Given the description of an element on the screen output the (x, y) to click on. 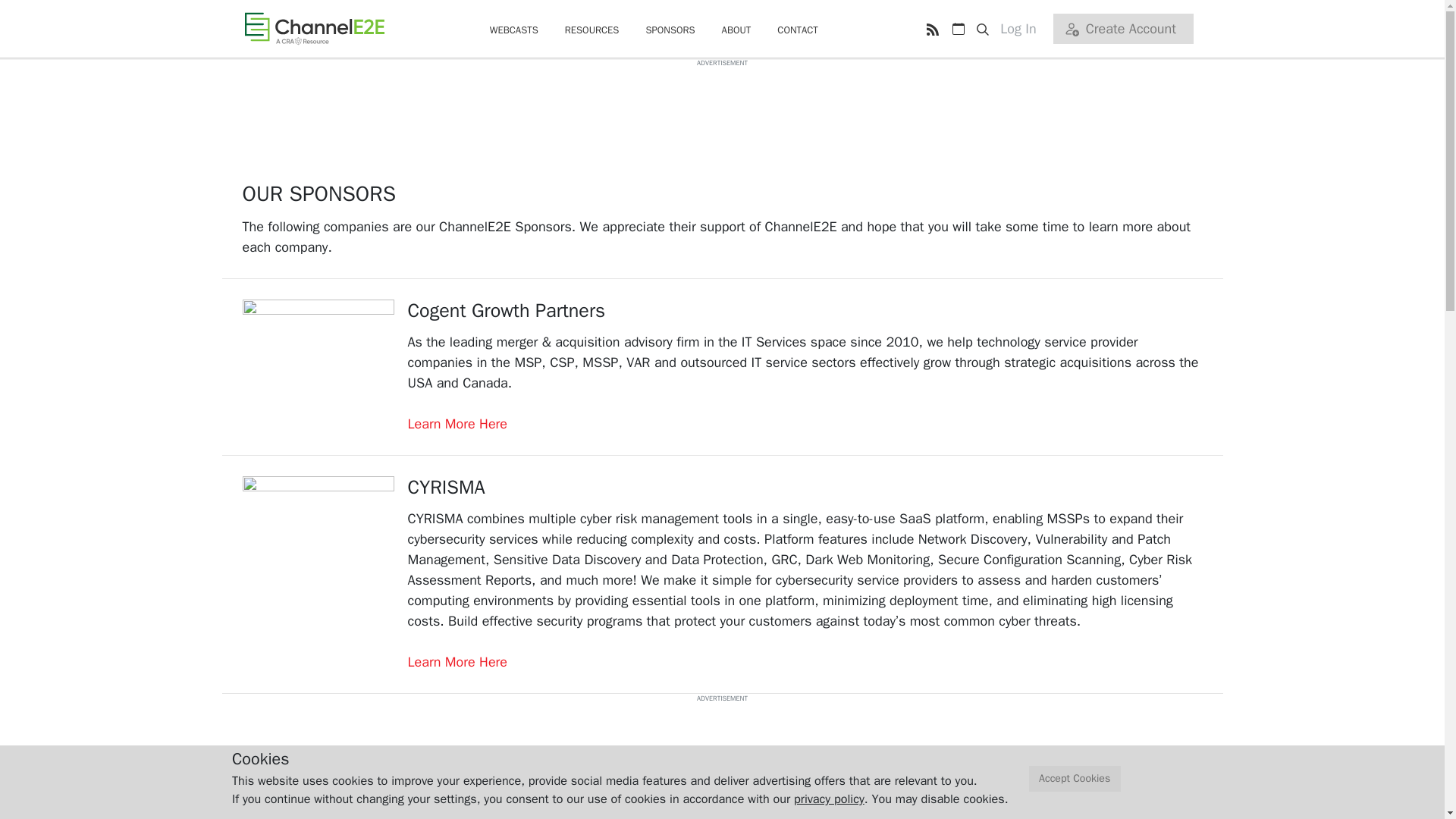
WEBCASTS (513, 30)
Log In (1023, 29)
RESOURCES (592, 30)
Create Account (1122, 29)
3rd party ad content (721, 101)
CONTACT (797, 30)
3rd party ad content (721, 737)
Learn More Here (457, 423)
SPONSORS (669, 30)
privacy policy (828, 798)
Learn More Here (457, 661)
ABOUT (736, 30)
View Cybersecurity Conference Calendar (957, 28)
ChannelE2E (314, 27)
Accept Cookies (1075, 778)
